Given the description of an element on the screen output the (x, y) to click on. 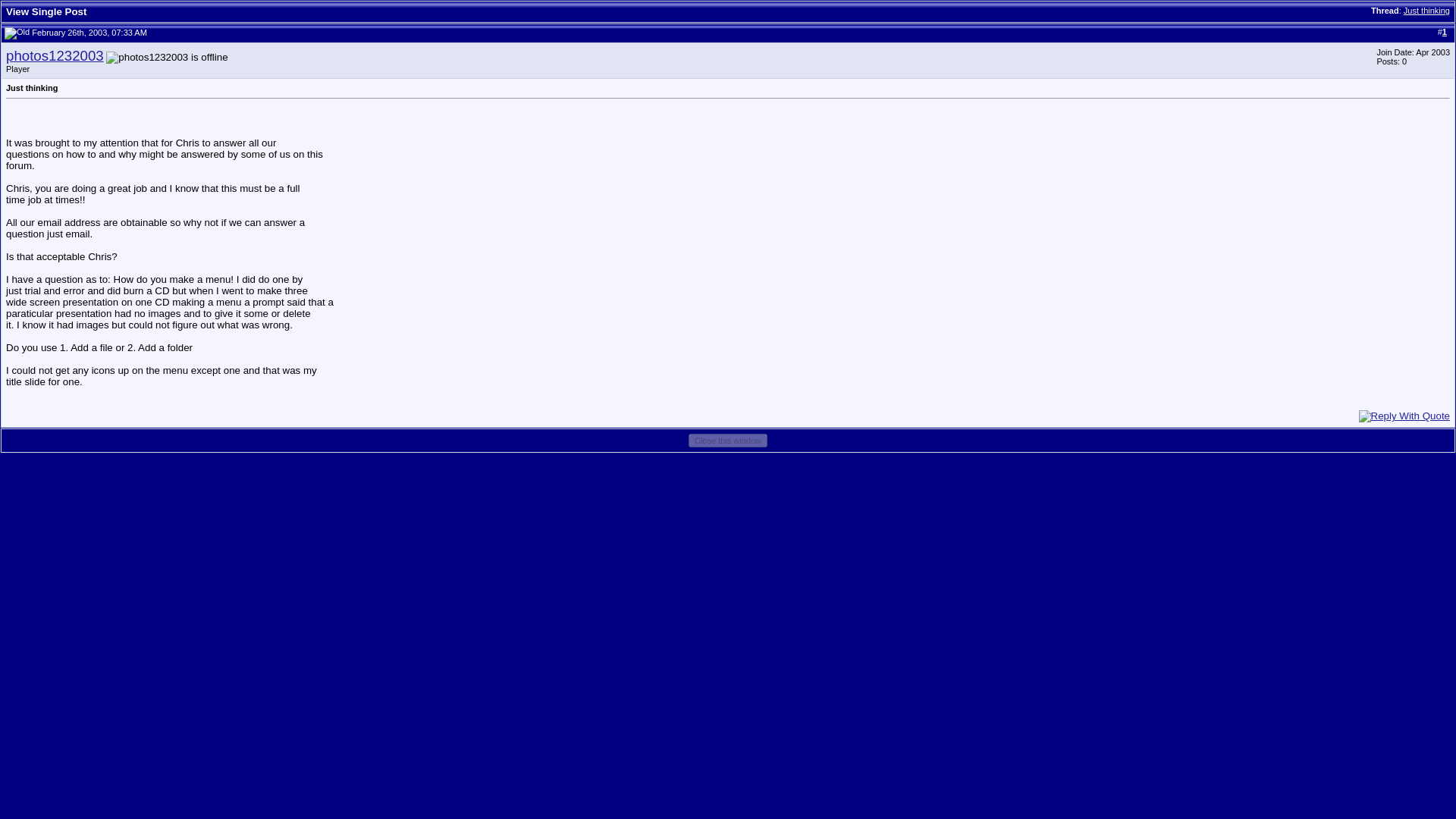
photos1232003 is offline (166, 57)
photos1232003 (54, 55)
Close this window (727, 440)
Old (16, 33)
Just thinking (1426, 10)
Reply With Quote (1404, 416)
